Given the description of an element on the screen output the (x, y) to click on. 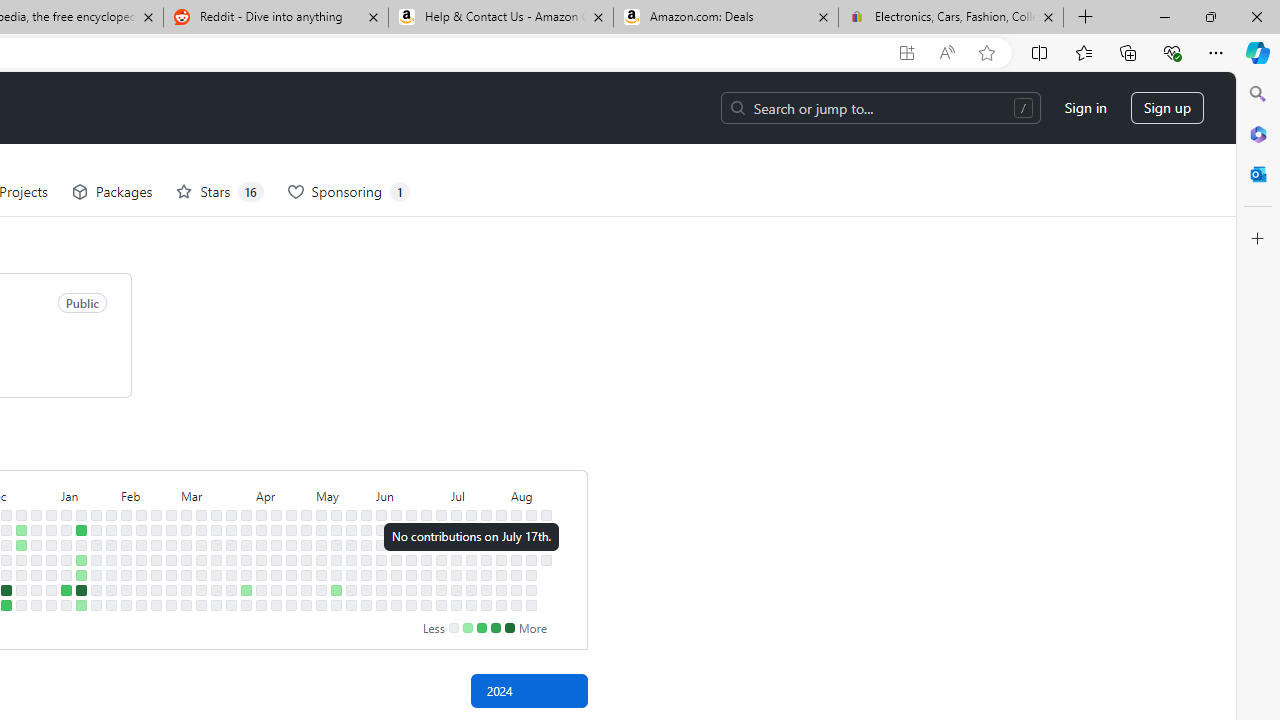
No contributions on August 7th. (516, 559)
No contributions on February 28th. (171, 559)
No contributions on July 6th. (441, 605)
No contributions on February 3rd. (111, 605)
No contributions on August 19th. (546, 529)
Packages (111, 192)
No contributions on July 14th. (471, 515)
No contributions on July 5th. (441, 589)
No contributions on July 10th. (456, 559)
No contributions on December 12th. (6, 544)
No contributions on June 9th. (395, 515)
No contributions on December 13th. (6, 559)
No contributions on March 23rd. (216, 605)
No contributions on July 22nd. (486, 529)
